Given the description of an element on the screen output the (x, y) to click on. 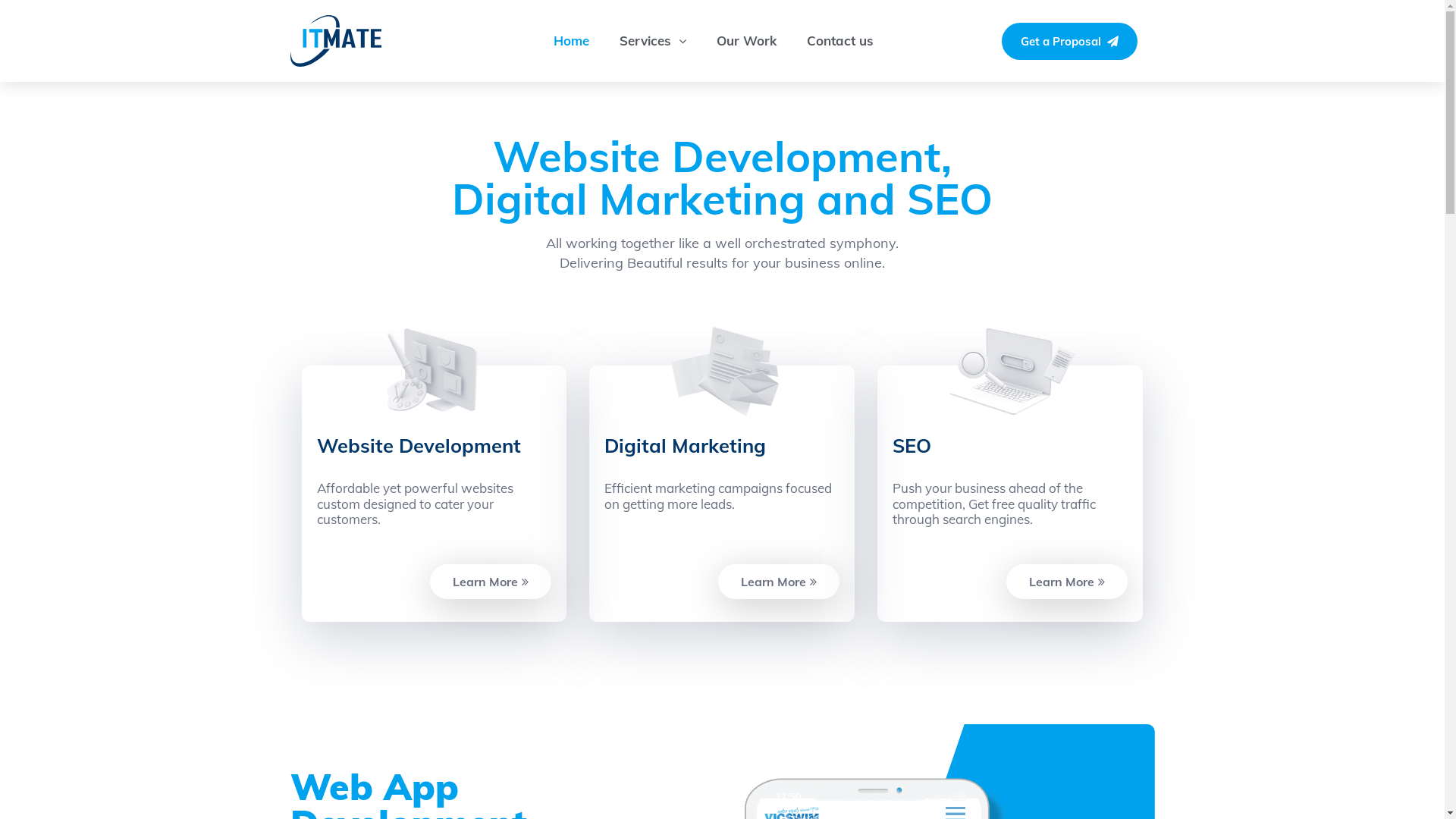
seo-iws-melbourne Element type: hover (1009, 371)
Contact us Element type: text (839, 40)
web-design Element type: hover (433, 371)
Learn More Element type: text (490, 581)
Learn More Element type: text (1066, 581)
Get a Proposal Element type: text (1069, 40)
Home Element type: text (571, 40)
Our Work Element type: text (746, 40)
digital-marketing-iws Element type: hover (721, 371)
Learn More Element type: text (778, 581)
Services Element type: text (652, 40)
